Given the description of an element on the screen output the (x, y) to click on. 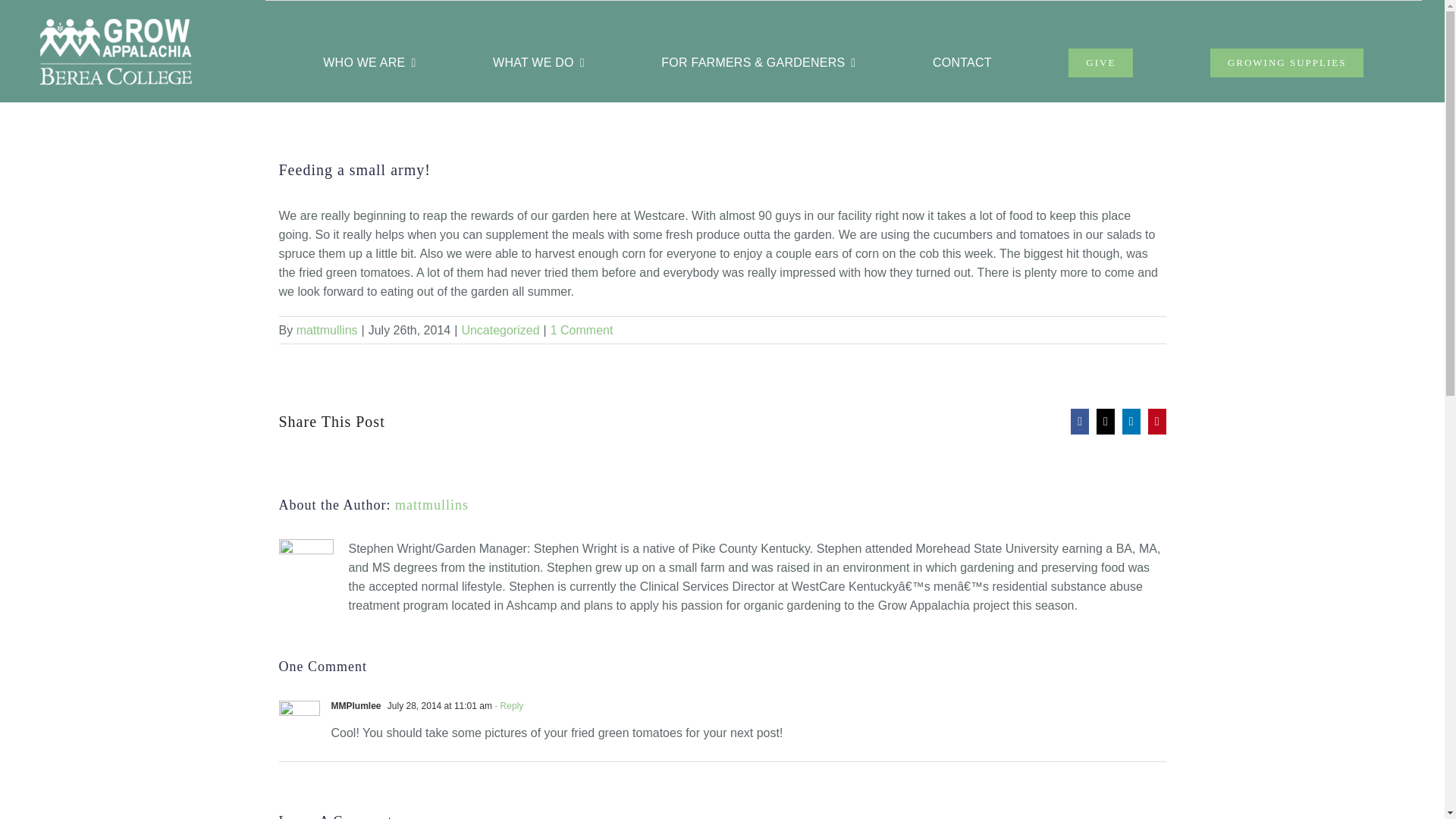
CONTACT (962, 62)
GROWING SUPPLIES (1286, 62)
Posts by mattmullins (431, 504)
WHO WE ARE (368, 62)
GIVE (1100, 62)
mattmullins (327, 329)
Posts by mattmullins (327, 329)
1 Comment (581, 329)
Uncategorized (499, 329)
WHAT WE DO (539, 62)
